Given the description of an element on the screen output the (x, y) to click on. 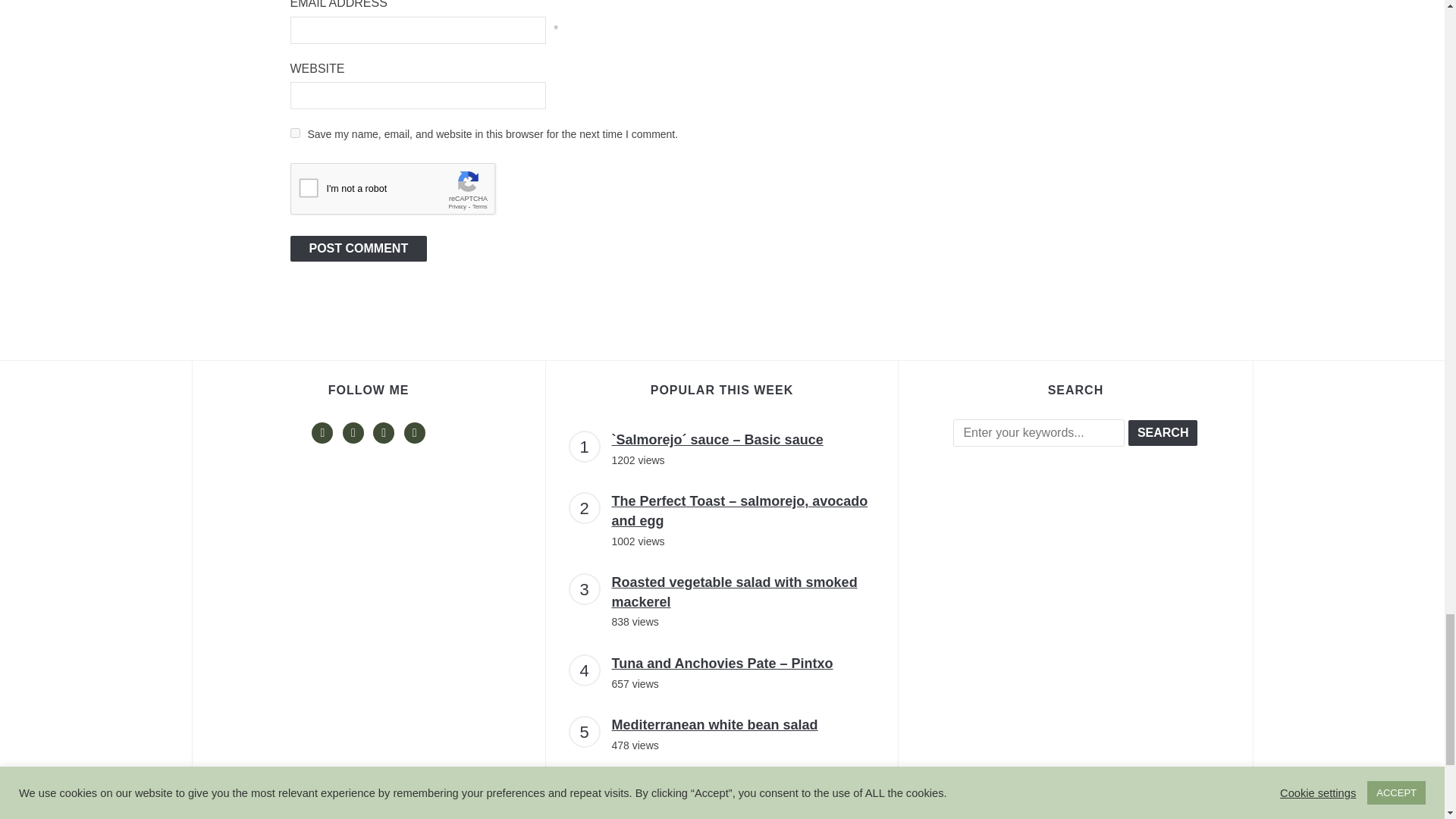
Post Comment (357, 248)
yes (294, 132)
Search (1163, 432)
Search (1163, 432)
